Given the description of an element on the screen output the (x, y) to click on. 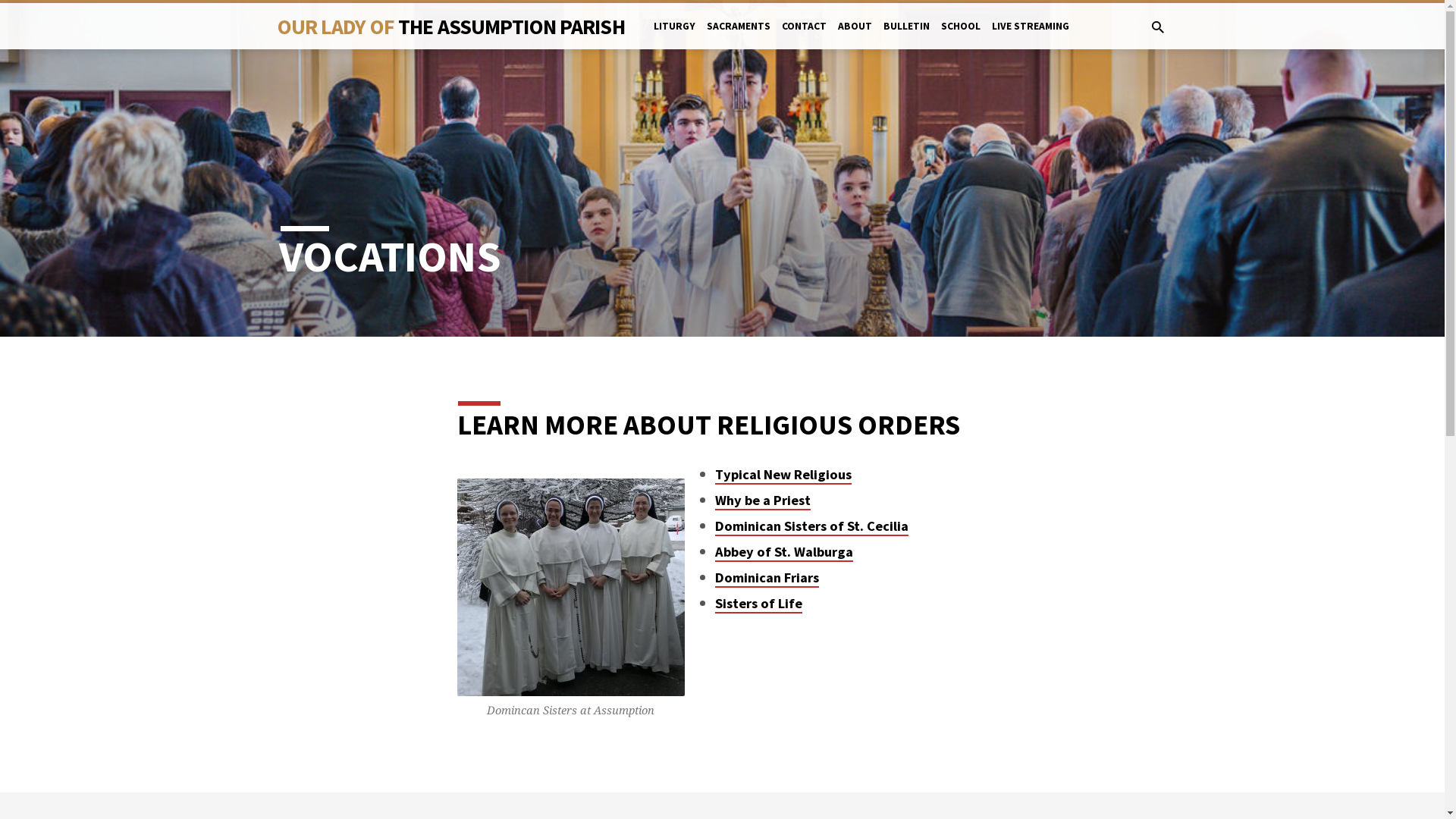
LIVE STREAMING Element type: text (1030, 35)
SCHOOL Element type: text (960, 35)
OUR LADY OF THE ASSUMPTION PARISH Element type: text (450, 25)
Why be a Priest Element type: text (762, 500)
LITURGY Element type: text (674, 35)
ABOUT Element type: text (854, 35)
Abbey of St. Walburga Element type: text (784, 551)
Dominican Friars Element type: text (767, 577)
Typical New Religious Element type: text (783, 474)
BULLETIN Element type: text (906, 35)
Sisters of Life Element type: text (758, 603)
Dominican Sisters of St. Cecilia Element type: text (811, 526)
SACRAMENTS Element type: text (738, 35)
CONTACT Element type: text (803, 35)
